Given the description of an element on the screen output the (x, y) to click on. 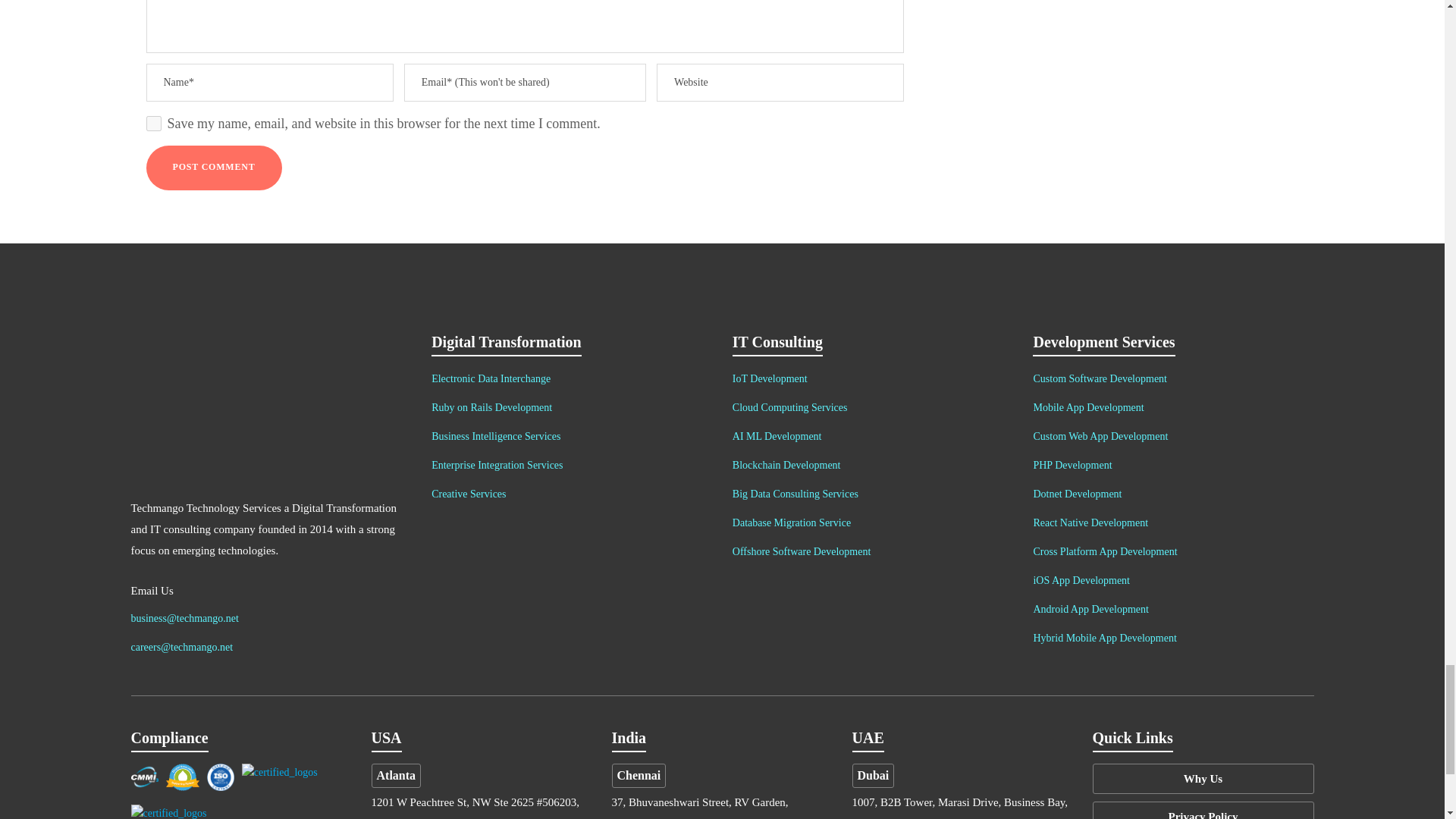
Post Comment (213, 167)
yes (152, 123)
